Given the description of an element on the screen output the (x, y) to click on. 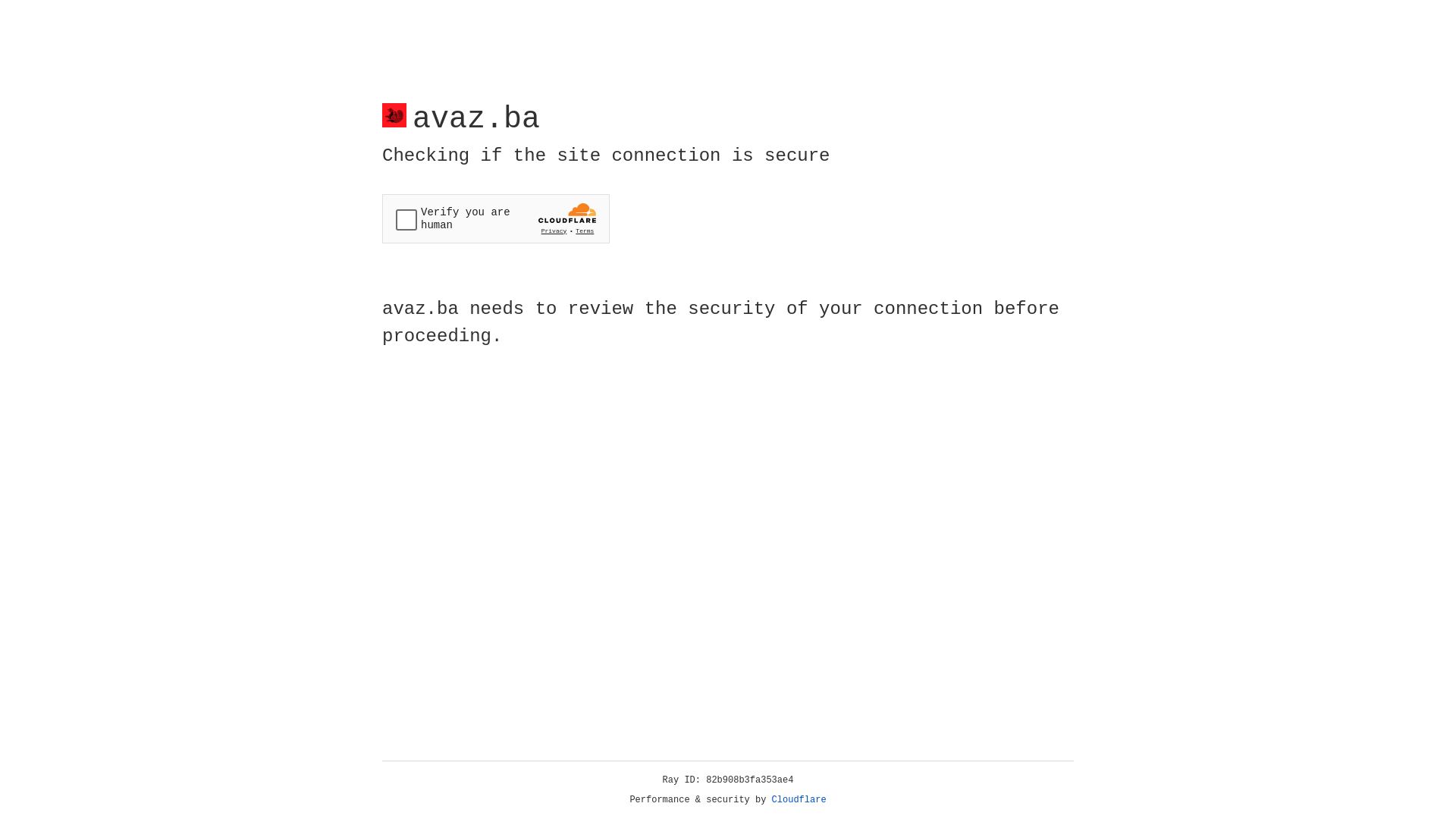
Cloudflare Element type: text (798, 799)
Widget containing a Cloudflare security challenge Element type: hover (495, 218)
